Given the description of an element on the screen output the (x, y) to click on. 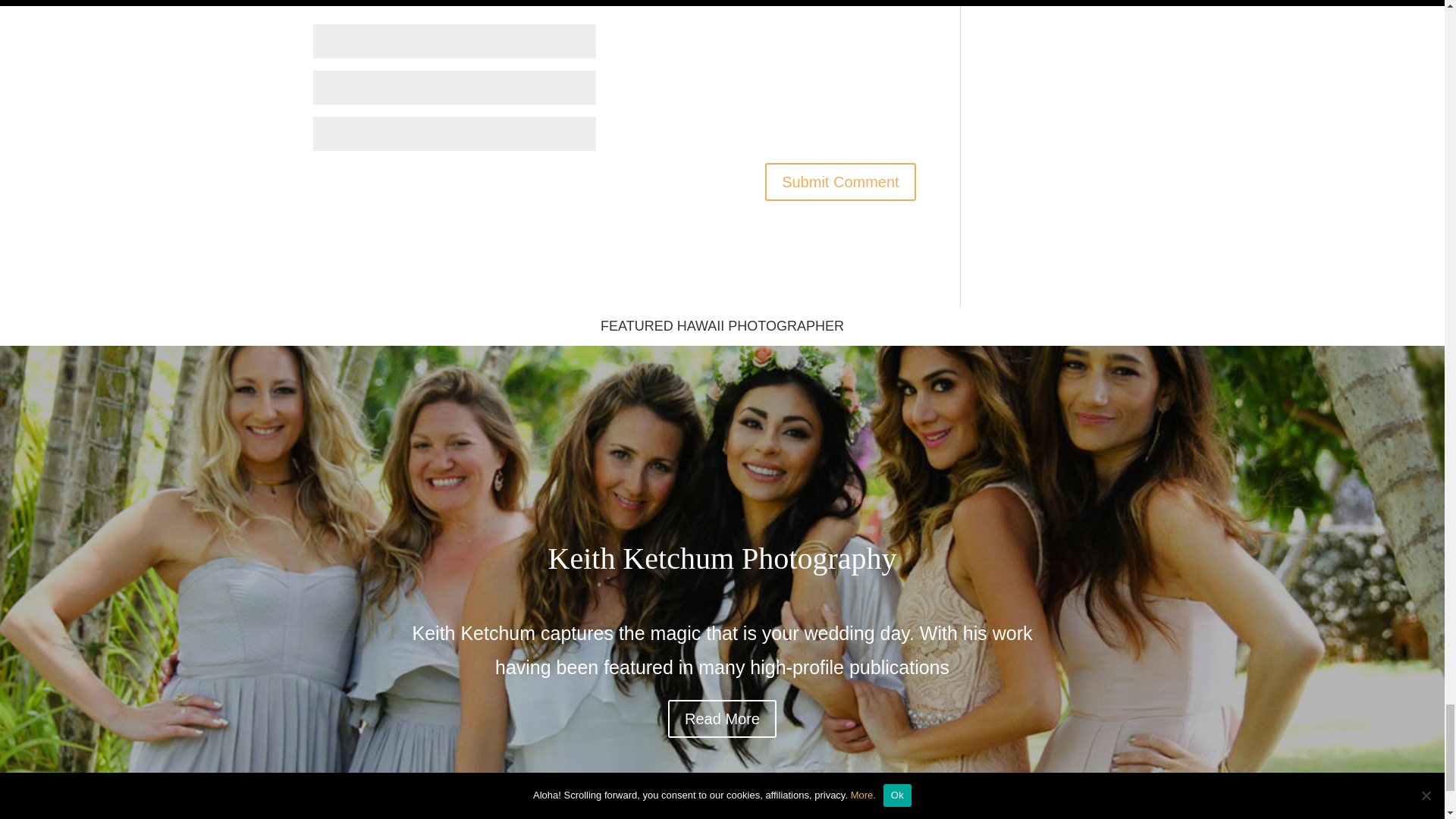
Submit Comment (840, 181)
Read More (722, 718)
Submit Comment (840, 181)
